Given the description of an element on the screen output the (x, y) to click on. 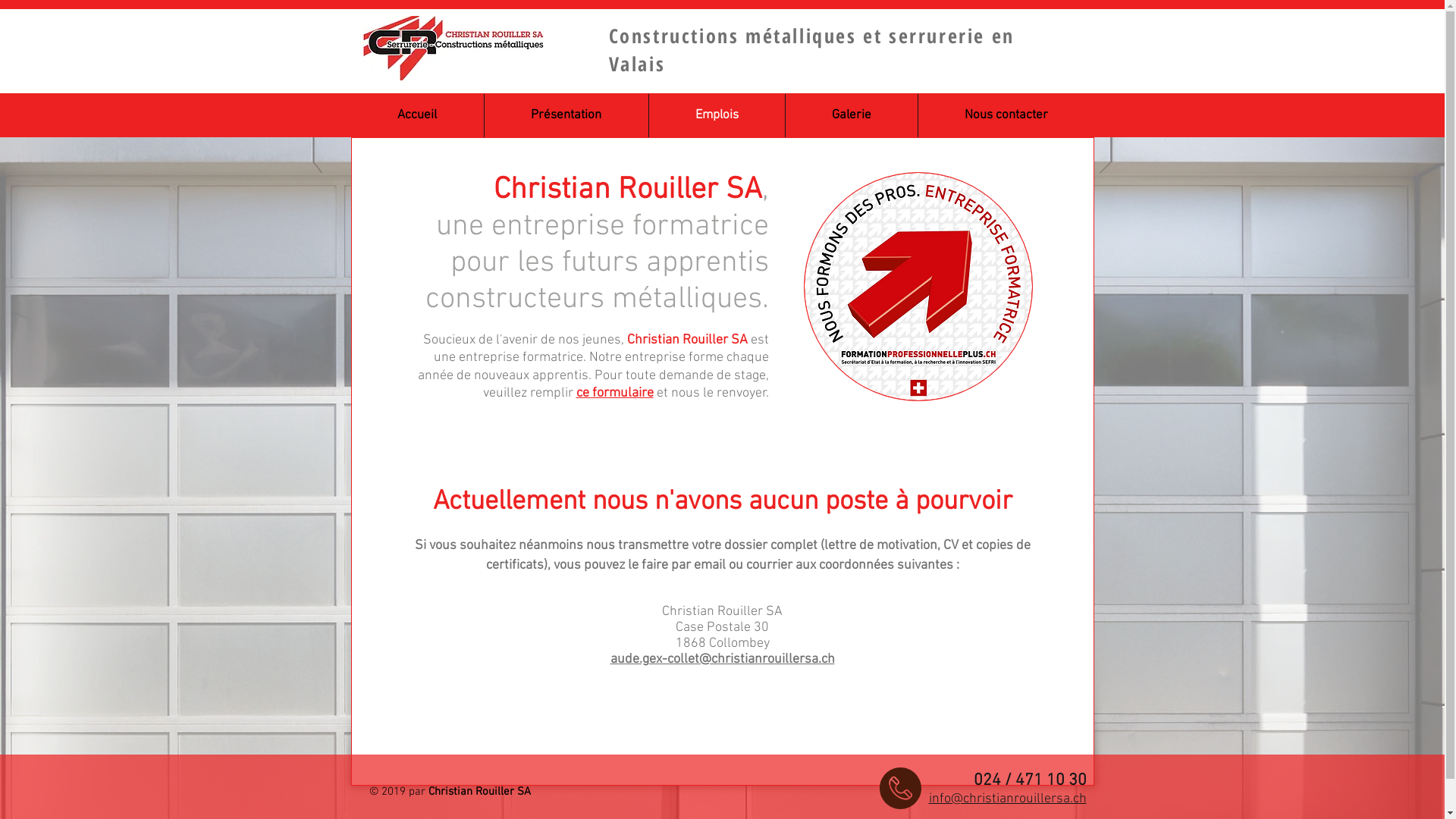
Accueil Element type: text (416, 115)
aude.gex-collet@christianrouillersa.ch Element type: text (721, 659)
Galerie Element type: text (851, 115)
info@christianrouillersa.ch Element type: text (1006, 798)
Nous contacter Element type: text (1005, 115)
Emplois Element type: text (716, 115)
ce formulaire Element type: text (614, 393)
